Given the description of an element on the screen output the (x, y) to click on. 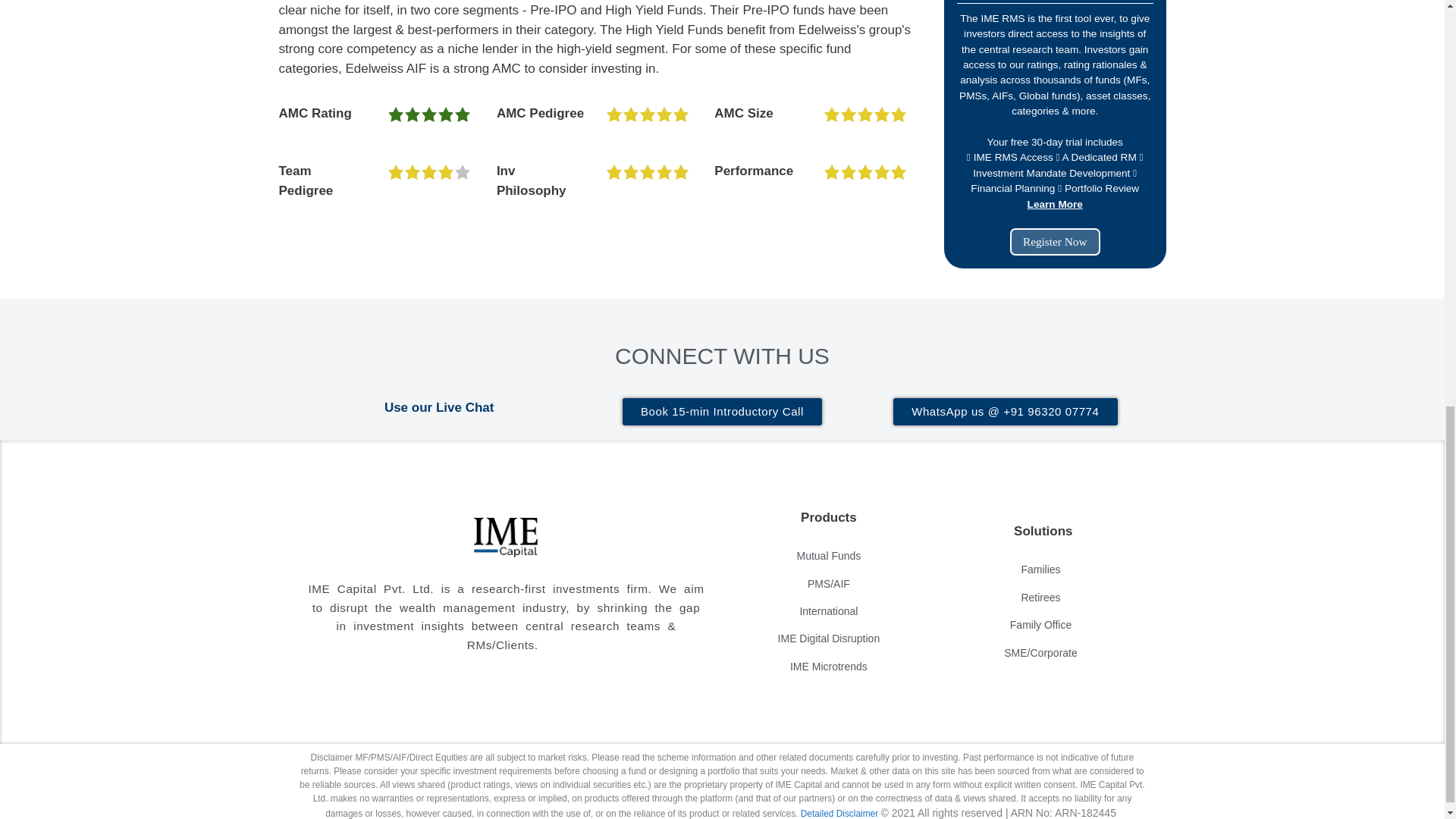
Book 15-min Introductory Call (722, 411)
Mutual Funds (828, 555)
